Given the description of an element on the screen output the (x, y) to click on. 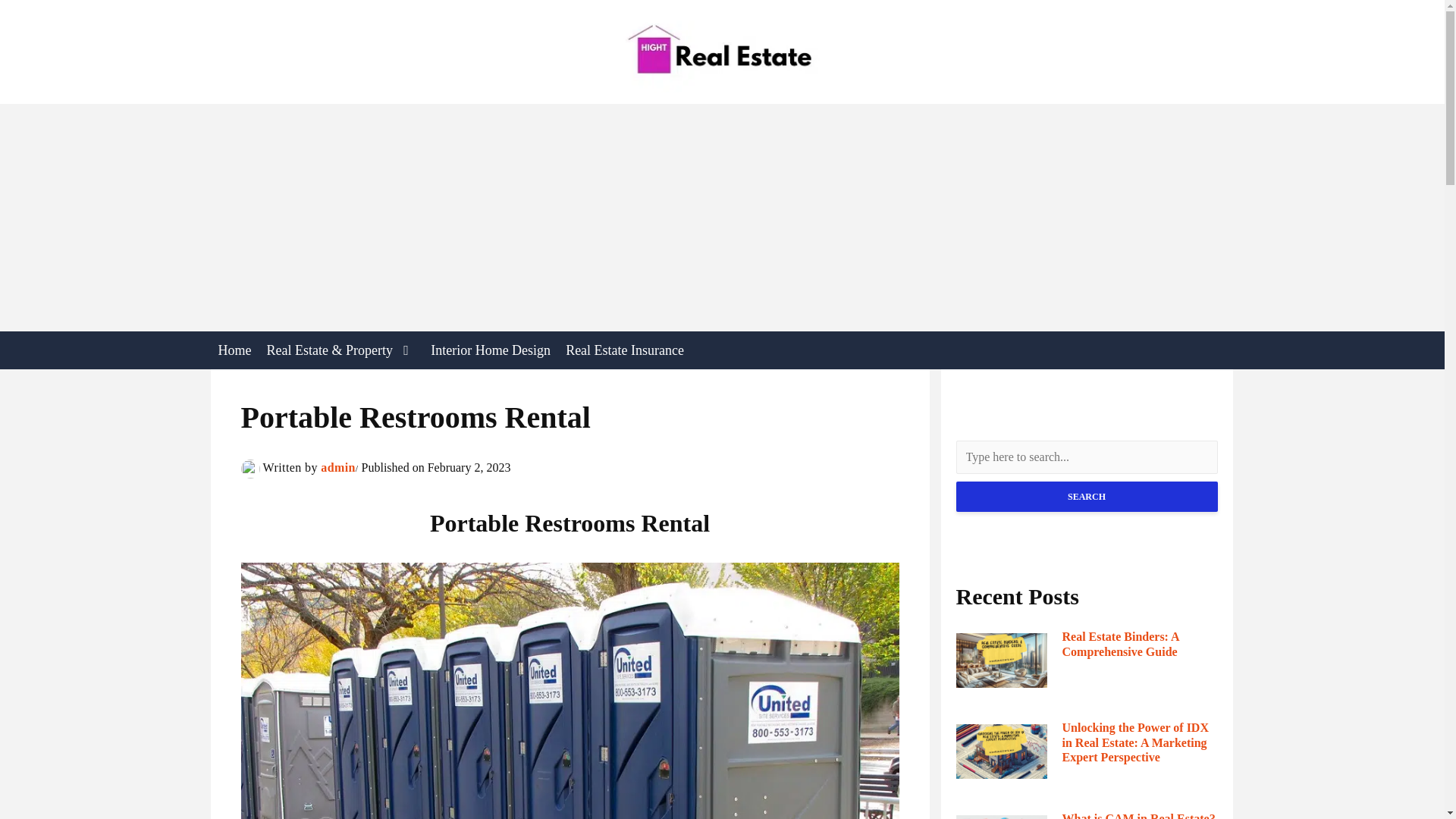
What is CAM in Real Estate? (1137, 815)
Real Estate Insurance (624, 350)
Interior Home Design (490, 350)
Real Estate Binders: A Comprehensive Guide 4 (1000, 660)
Posts by admin (337, 467)
SEARCH (1086, 496)
admin (337, 467)
Real Estate Binders: A Comprehensive Guide (1139, 643)
Home (235, 350)
